Given the description of an element on the screen output the (x, y) to click on. 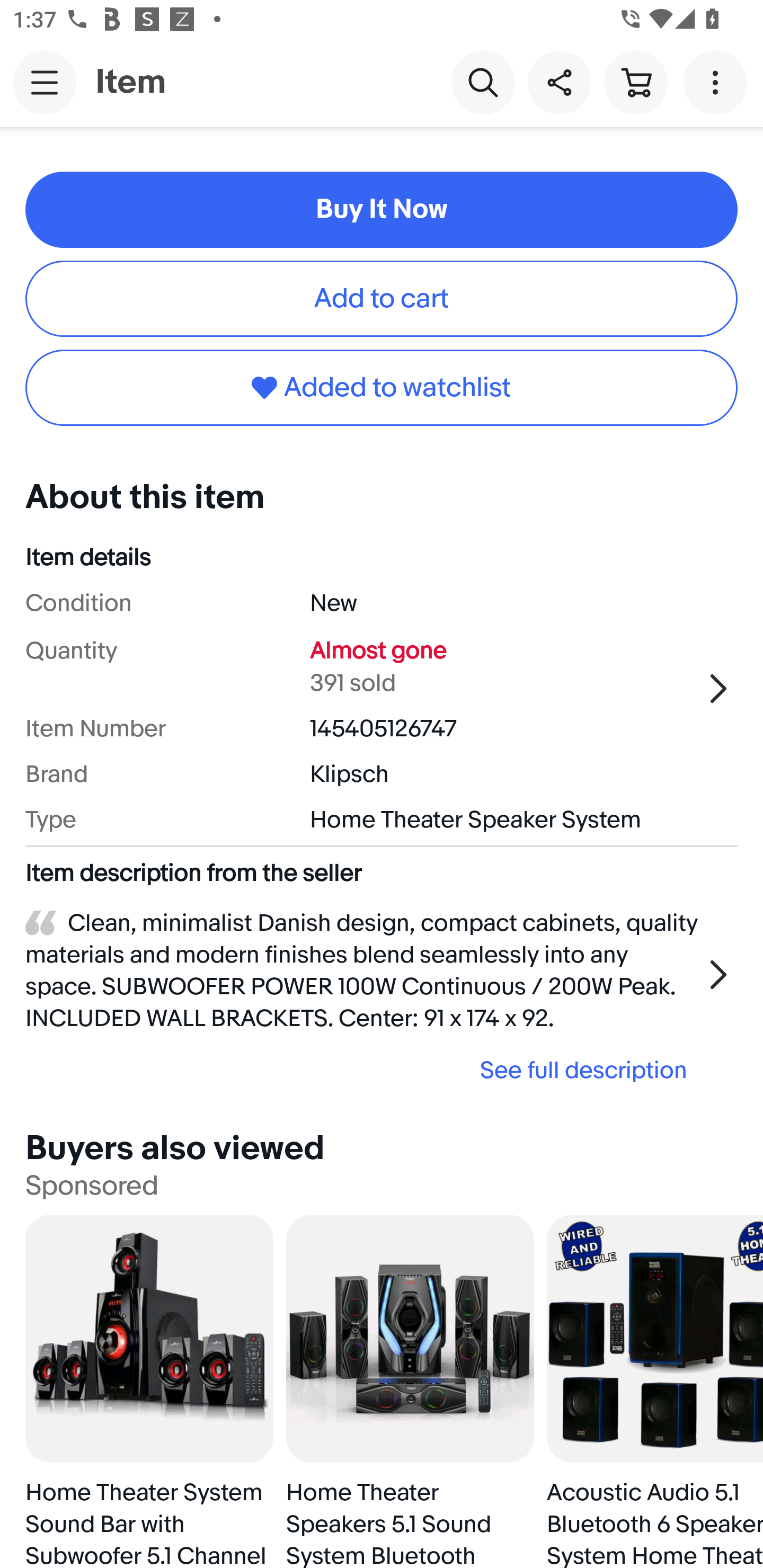
Main navigation, open (44, 82)
Search (482, 81)
Share this item (559, 81)
Cart button shopping cart (635, 81)
More options (718, 81)
Buy It Now (381, 208)
Add to cart (381, 298)
Added to watchlist (381, 387)
See full description (362, 1069)
